Given the description of an element on the screen output the (x, y) to click on. 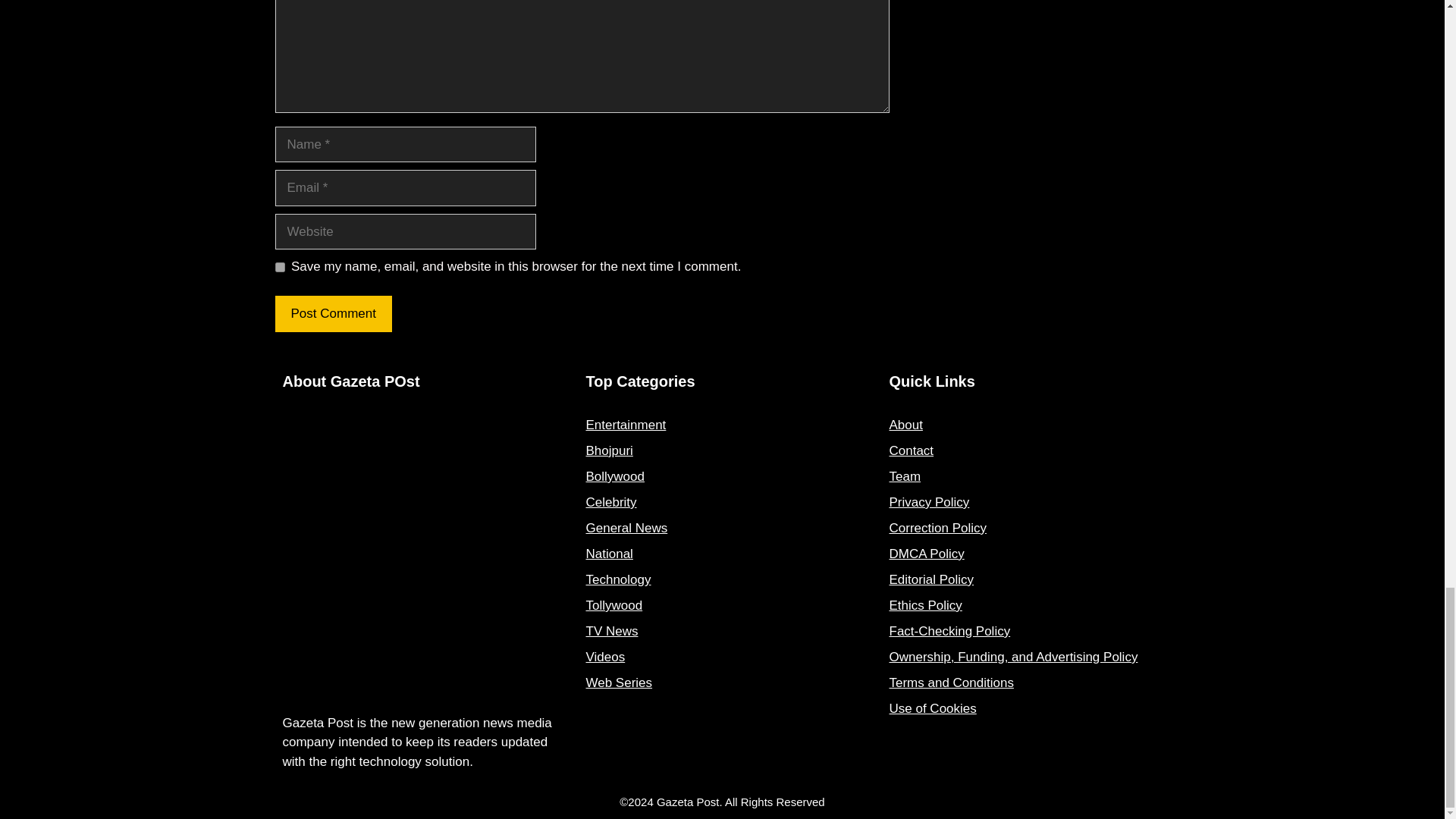
Post Comment (333, 313)
yes (279, 266)
